Given the description of an element on the screen output the (x, y) to click on. 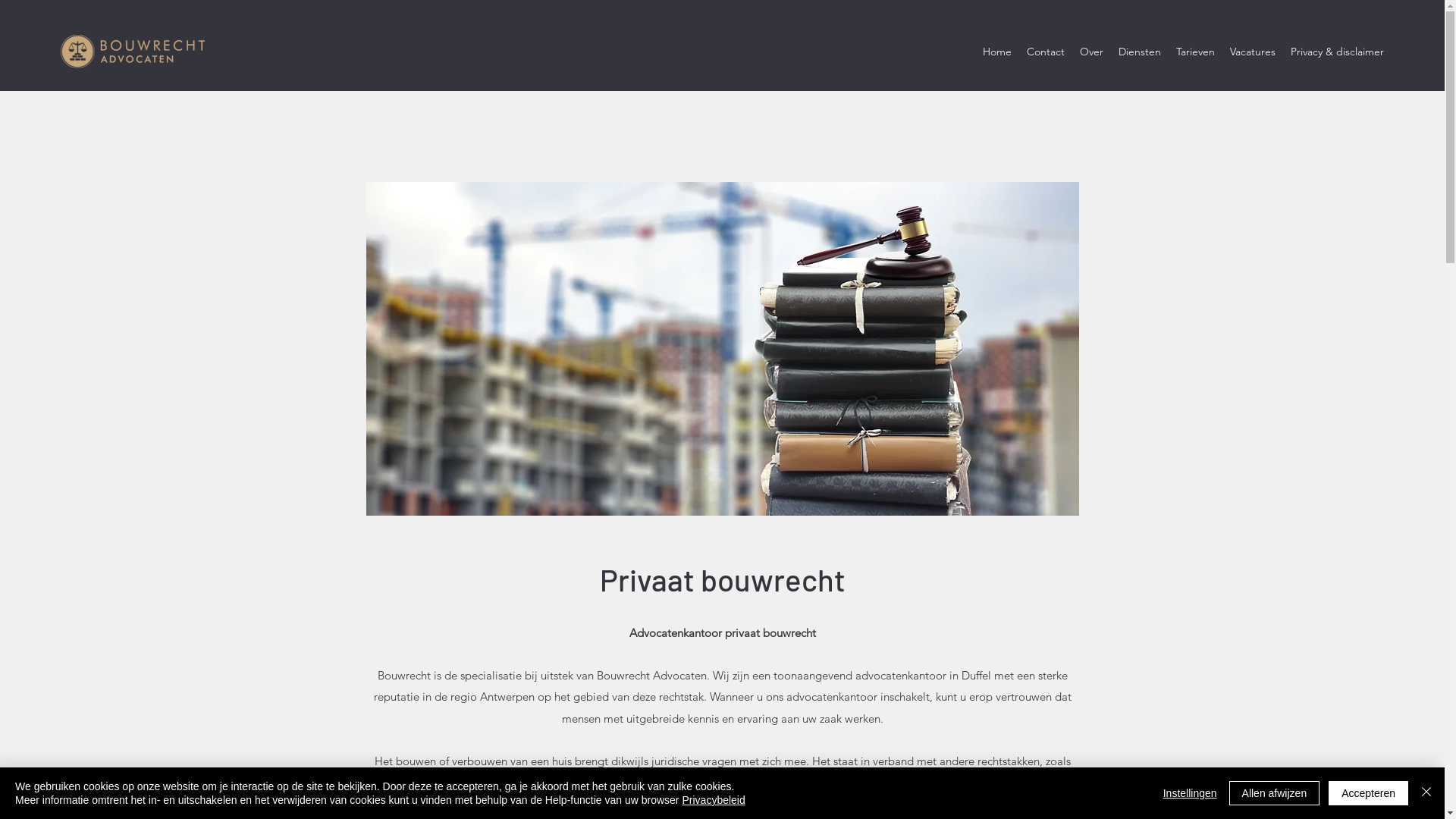
Home Element type: text (997, 51)
Allen afwijzen Element type: text (1274, 793)
Accepteren Element type: text (1368, 793)
Tarieven Element type: text (1195, 51)
Over Element type: text (1091, 51)
Privacy & disclaimer Element type: text (1337, 51)
Contact Element type: text (1045, 51)
Diensten Element type: text (1139, 51)
Vacatures Element type: text (1252, 51)
Privacybeleid Element type: text (712, 799)
